Given the description of an element on the screen output the (x, y) to click on. 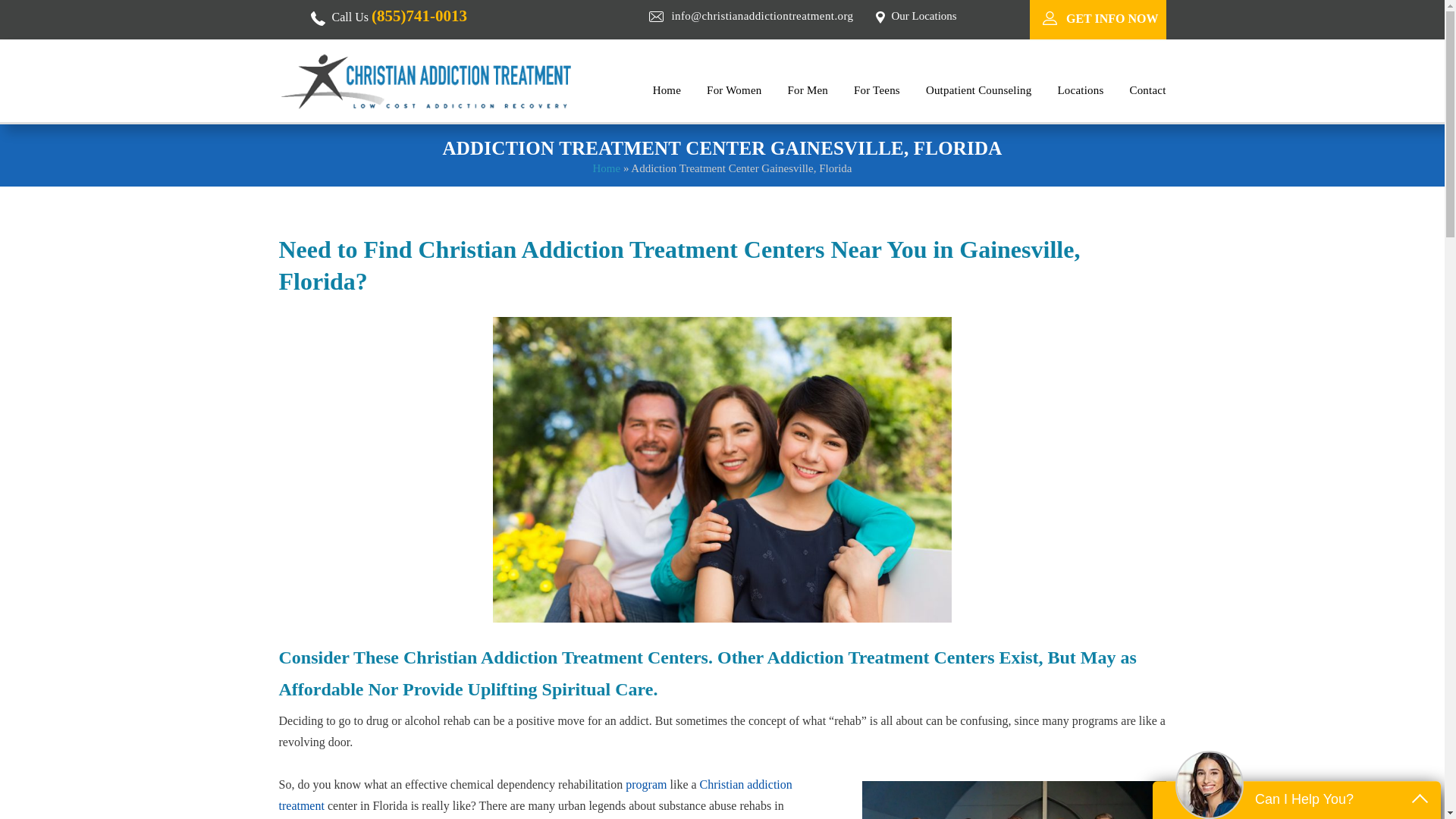
For Teens (876, 90)
Outpatient Counseling (979, 90)
Christian addiction treatment (535, 795)
Our Locations (923, 15)
Locations (1080, 90)
Home (606, 168)
GET INFO NOW (1111, 18)
program (646, 784)
For Women (733, 90)
